Given the description of an element on the screen output the (x, y) to click on. 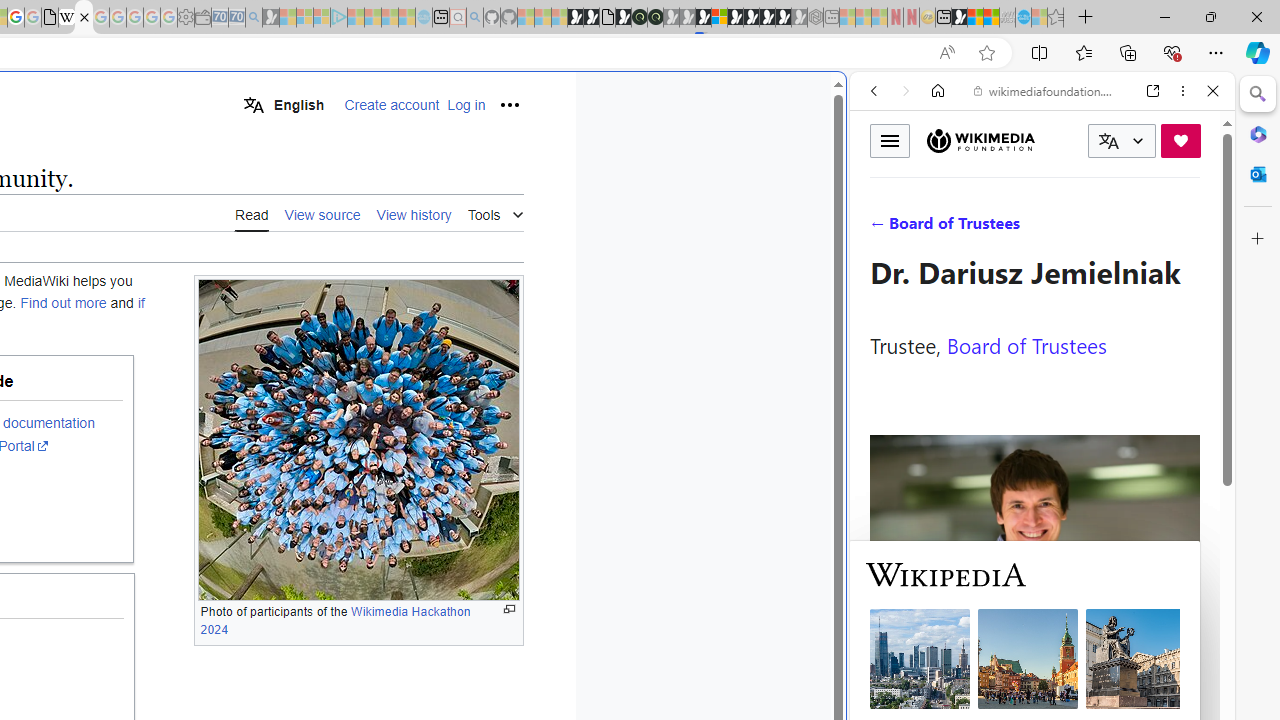
google_privacy_policy_zh-CN.pdf (49, 17)
Class: i icon icon-translate language-switcher__icon (1108, 141)
Close split screen (844, 102)
Wallet - Sleeping (202, 17)
Board of Trustees (1026, 344)
New tab - Sleeping (831, 17)
Create account (392, 105)
Play Cave FRVR in your browser | Games from Microsoft Start (343, 426)
Search Filter, IMAGES (939, 228)
Bing Real Estate - Home sales and rental listings - Sleeping (253, 17)
github - Search - Sleeping (474, 17)
